Given the description of an element on the screen output the (x, y) to click on. 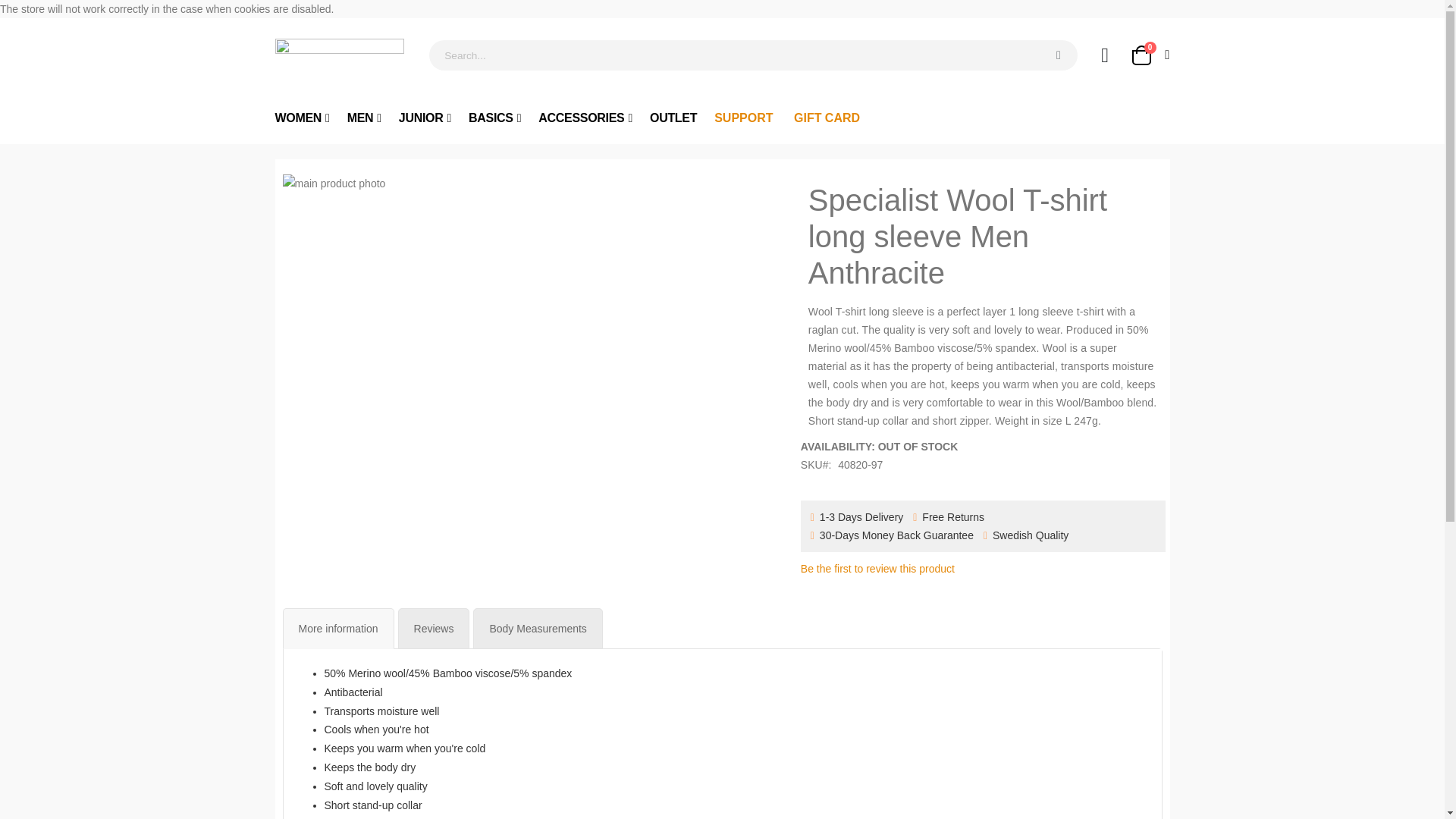
Search (1058, 55)
Women (1149, 55)
WOMEN (302, 117)
MEN (302, 117)
Wishlist (364, 117)
